Given the description of an element on the screen output the (x, y) to click on. 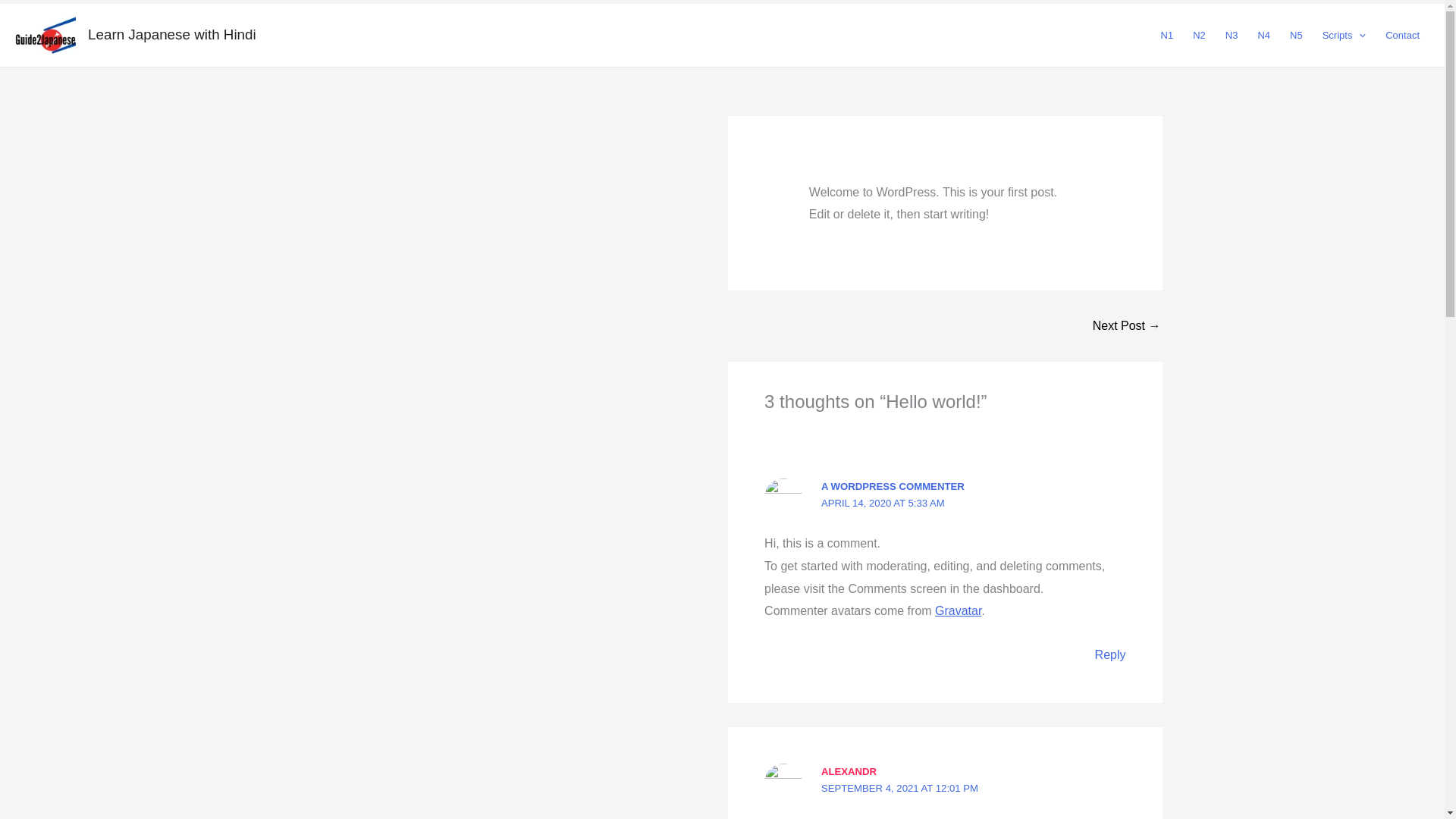
Learn Japanese with Hindi (171, 34)
INTRODUCTION TO N5 (1126, 326)
Scripts (1344, 35)
